Given the description of an element on the screen output the (x, y) to click on. 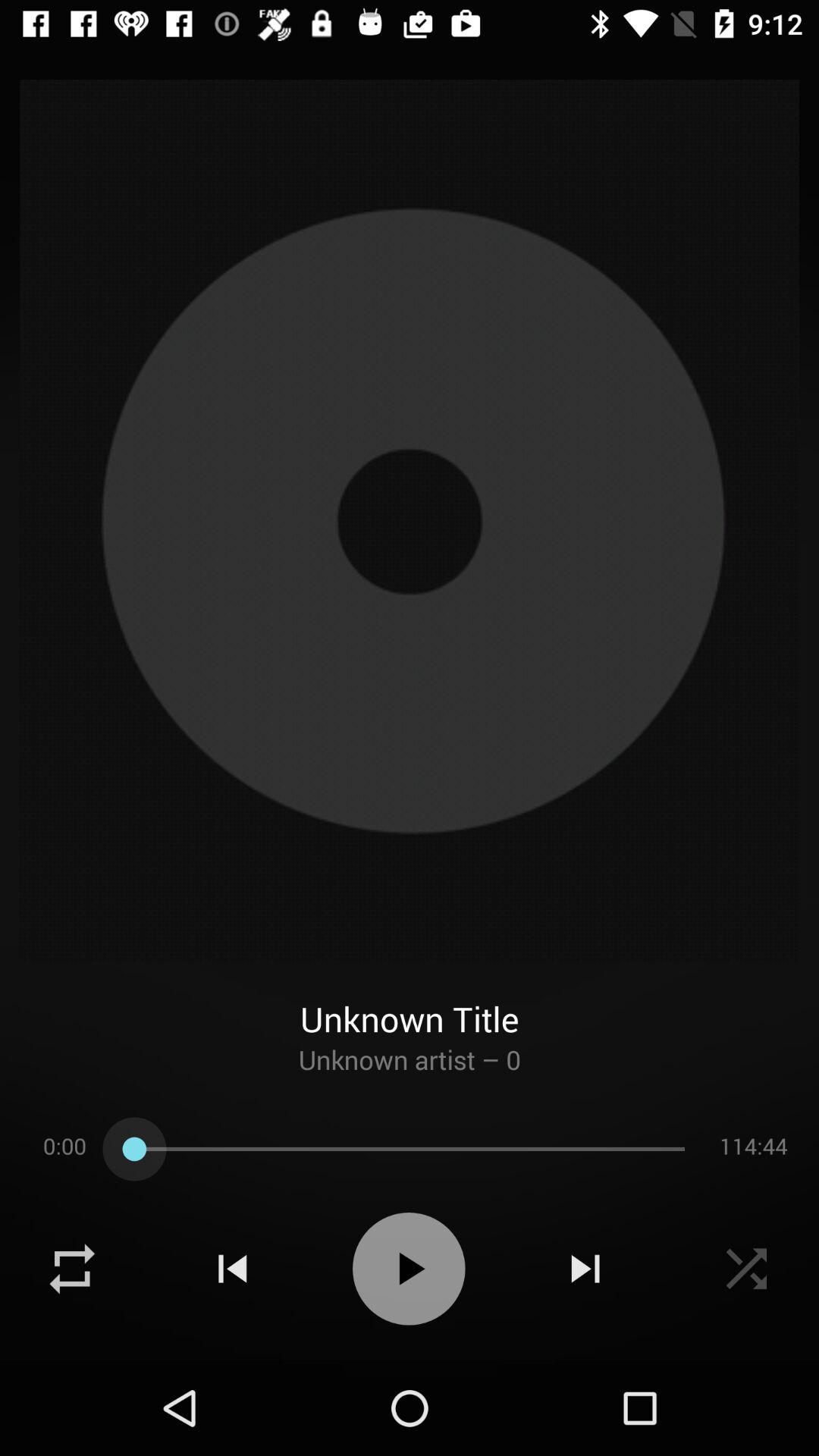
shuffle (746, 1268)
